Given the description of an element on the screen output the (x, y) to click on. 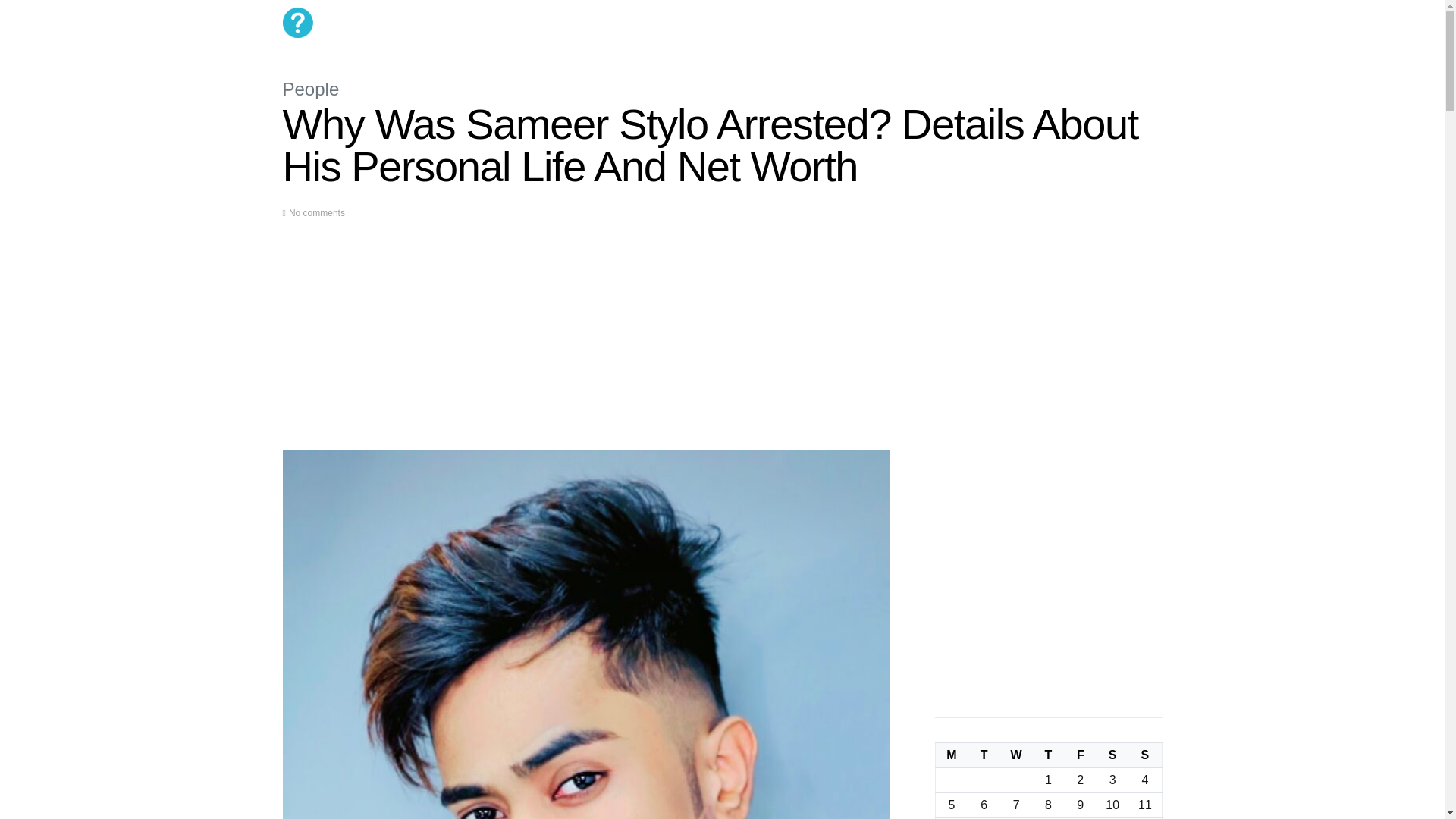
Celeb Corner (505, 22)
Friday (1080, 755)
Wednesday (1016, 755)
No comments (316, 213)
People (310, 88)
Advertisement (585, 344)
Thursday (1048, 755)
Health (564, 22)
How to (608, 22)
Advertise Here (747, 22)
